Given the description of an element on the screen output the (x, y) to click on. 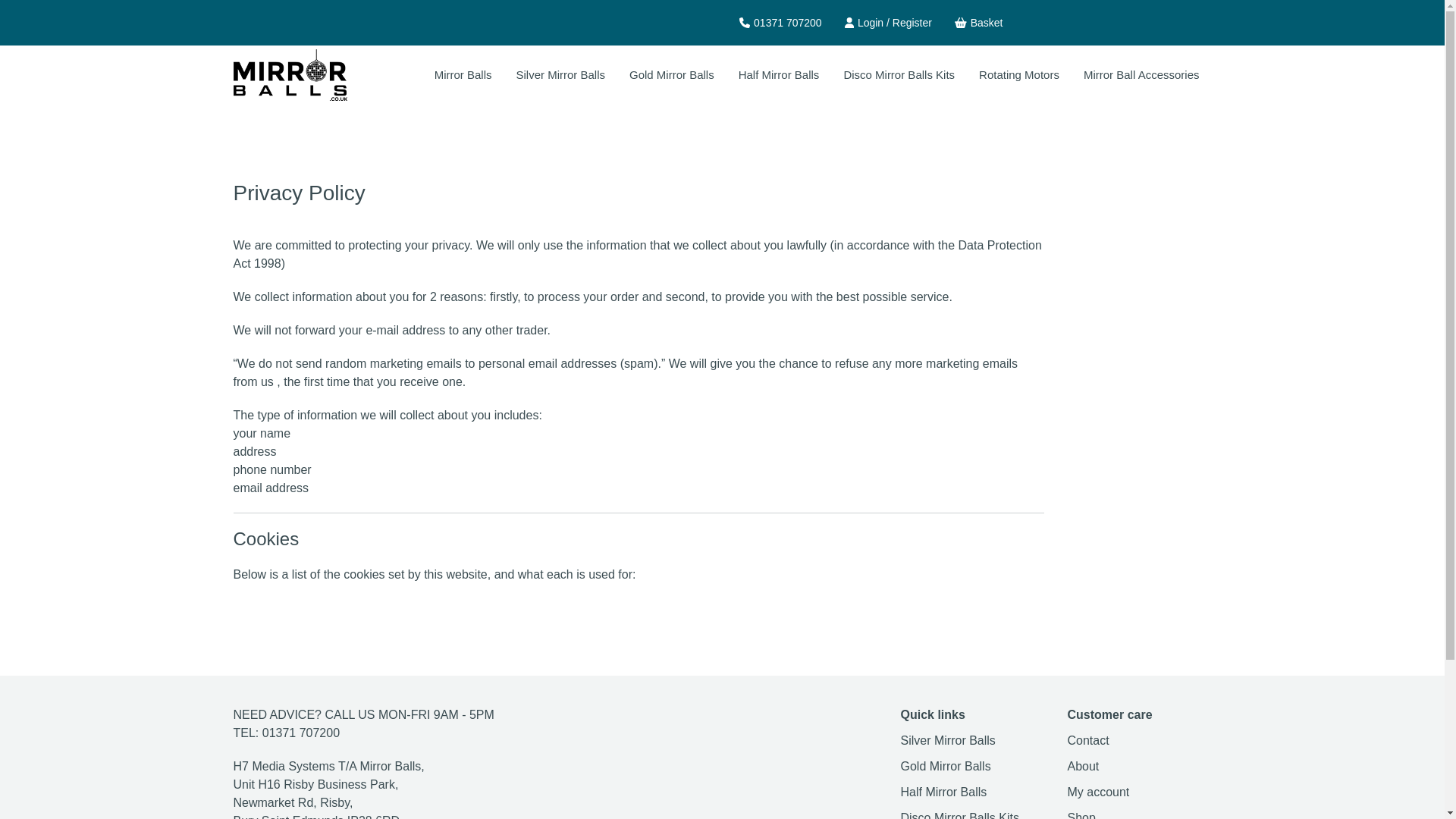
Half Mirror Balls (944, 791)
Silver Mirror Balls (560, 74)
Contact (1088, 739)
Half Mirror Balls (778, 74)
Shop (1081, 815)
Disco Mirror Balls Kits (960, 815)
My account (1098, 791)
View basket (979, 22)
Mirror Balls (462, 74)
Mirror Ball Accessories (1141, 74)
